Given the description of an element on the screen output the (x, y) to click on. 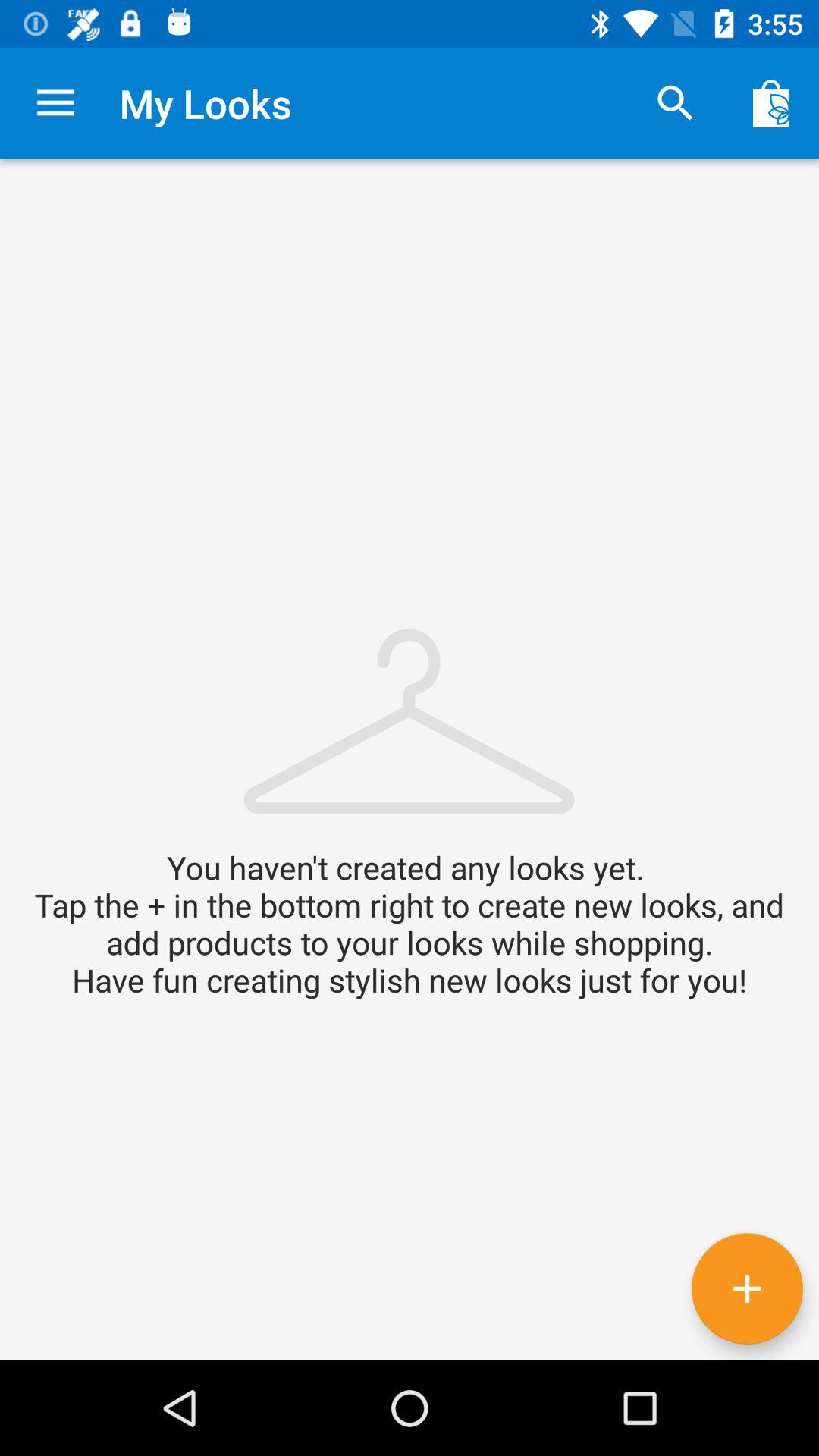
click item next to the my looks item (55, 103)
